Given the description of an element on the screen output the (x, y) to click on. 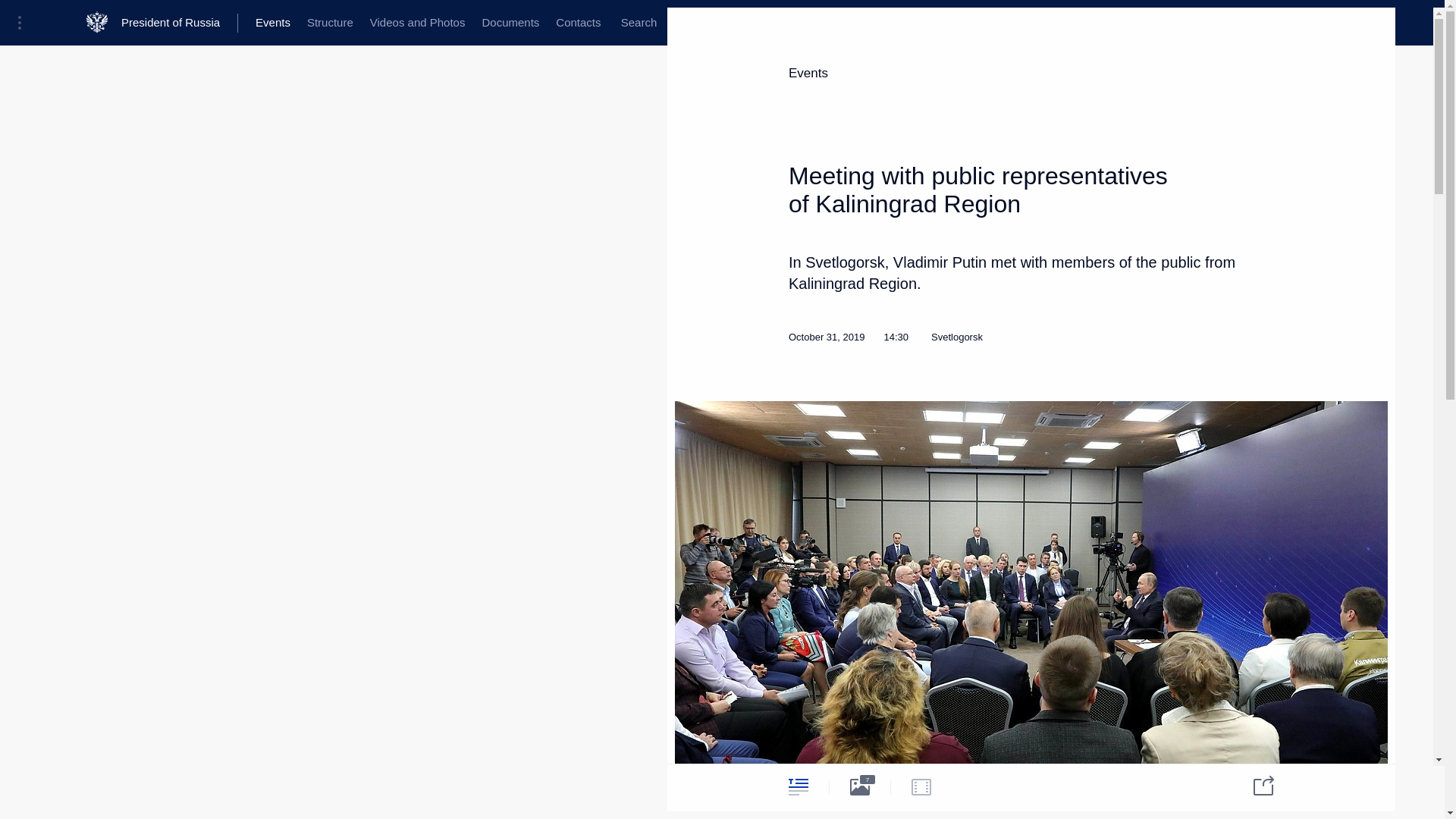
Events (808, 73)
Videos and Photos (417, 22)
Share (1253, 784)
Documents (510, 22)
Photo (859, 786)
Text (798, 786)
Portal Menu (24, 22)
Structure (329, 22)
Events (272, 22)
